Given the description of an element on the screen output the (x, y) to click on. 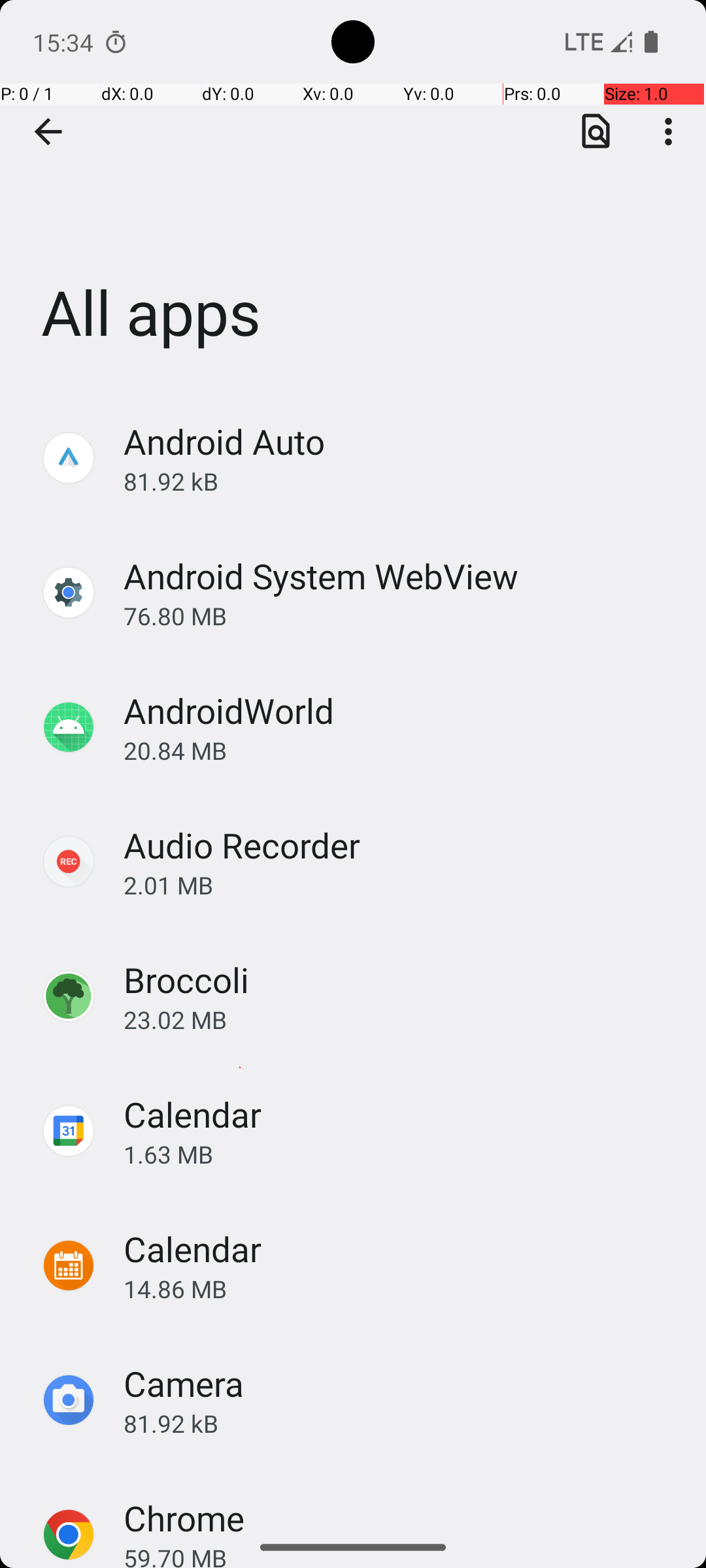
All apps Element type: android.widget.FrameLayout (353, 195)
81.92 kB Element type: android.widget.TextView (400, 480)
Android System WebView Element type: android.widget.TextView (320, 575)
76.80 MB Element type: android.widget.TextView (400, 615)
AndroidWorld Element type: android.widget.TextView (228, 710)
20.84 MB Element type: android.widget.TextView (400, 750)
2.01 MB Element type: android.widget.TextView (400, 884)
23.02 MB Element type: android.widget.TextView (400, 1019)
1.63 MB Element type: android.widget.TextView (400, 1153)
14.86 MB Element type: android.widget.TextView (400, 1288)
